Given the description of an element on the screen output the (x, y) to click on. 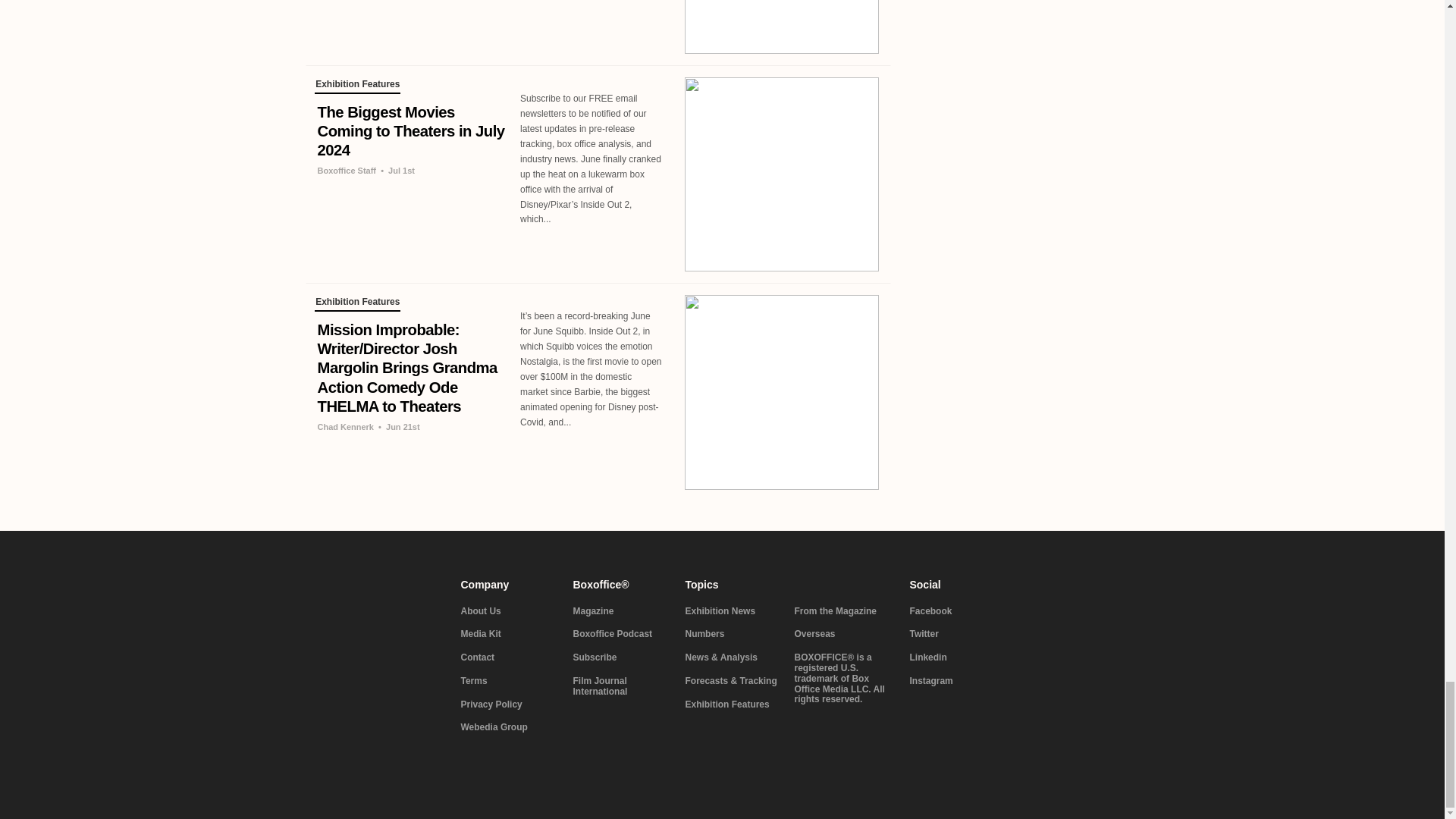
Exhibition Features (357, 86)
Exhibition Features (357, 304)
Company (508, 584)
About Us (508, 611)
